Given the description of an element on the screen output the (x, y) to click on. 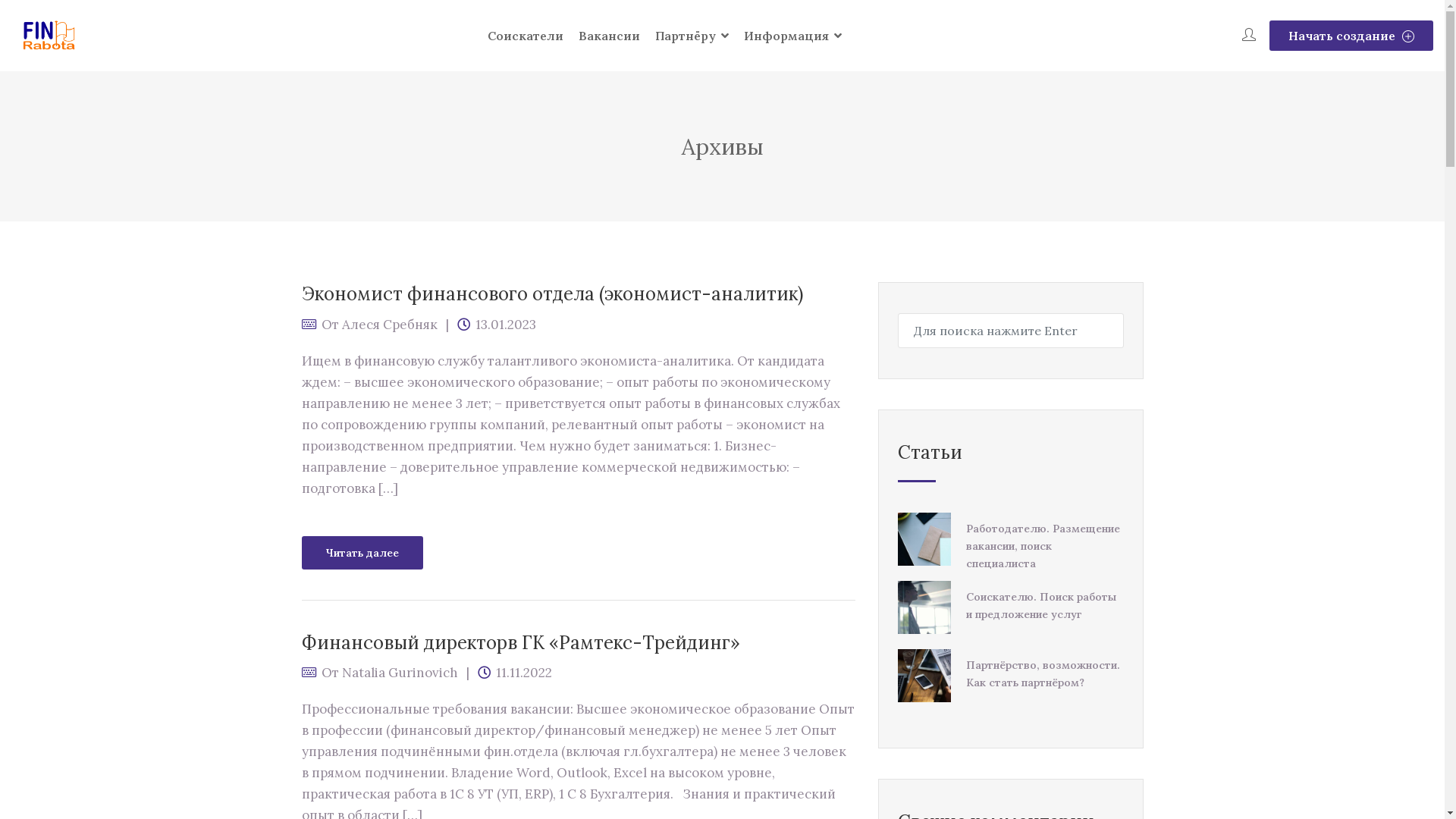
Natalia Gurinovich Element type: text (399, 672)
